Given the description of an element on the screen output the (x, y) to click on. 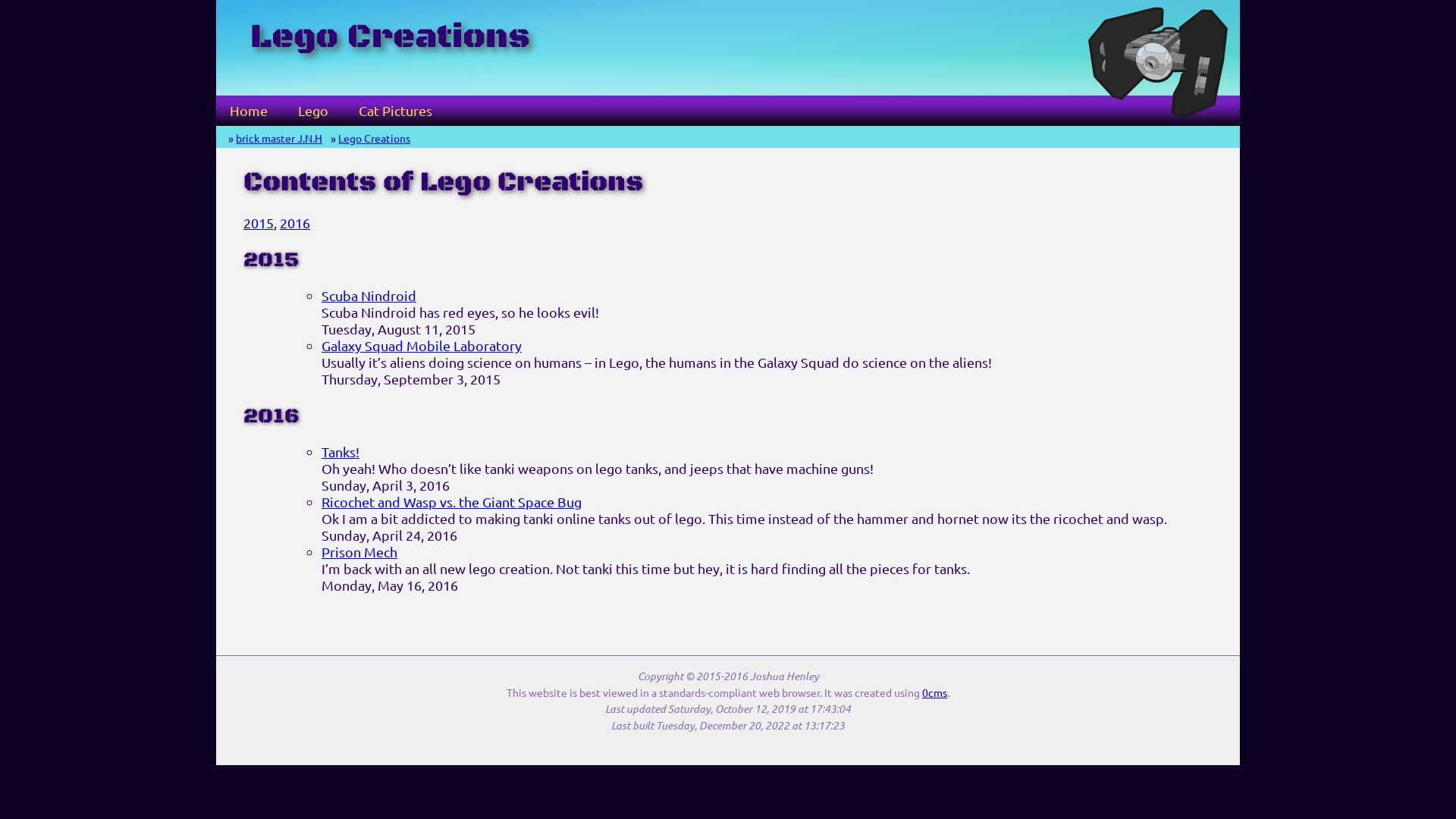
Tanks! Element type: text (340, 451)
2016 Element type: text (294, 222)
Lego Creations Element type: text (374, 137)
brick master J.N.H Element type: text (278, 137)
Ricochet and Wasp vs. the Giant Space Bug Element type: text (451, 501)
Prison Mech Element type: text (359, 551)
2015 Element type: text (258, 222)
Galaxy Squad Mobile Laboratory Element type: text (421, 345)
Home Element type: text (248, 110)
Cat Pictures Element type: text (395, 110)
0cms Element type: text (934, 692)
Scuba Nindroid Element type: text (368, 295)
Lego Element type: text (313, 110)
